Given the description of an element on the screen output the (x, y) to click on. 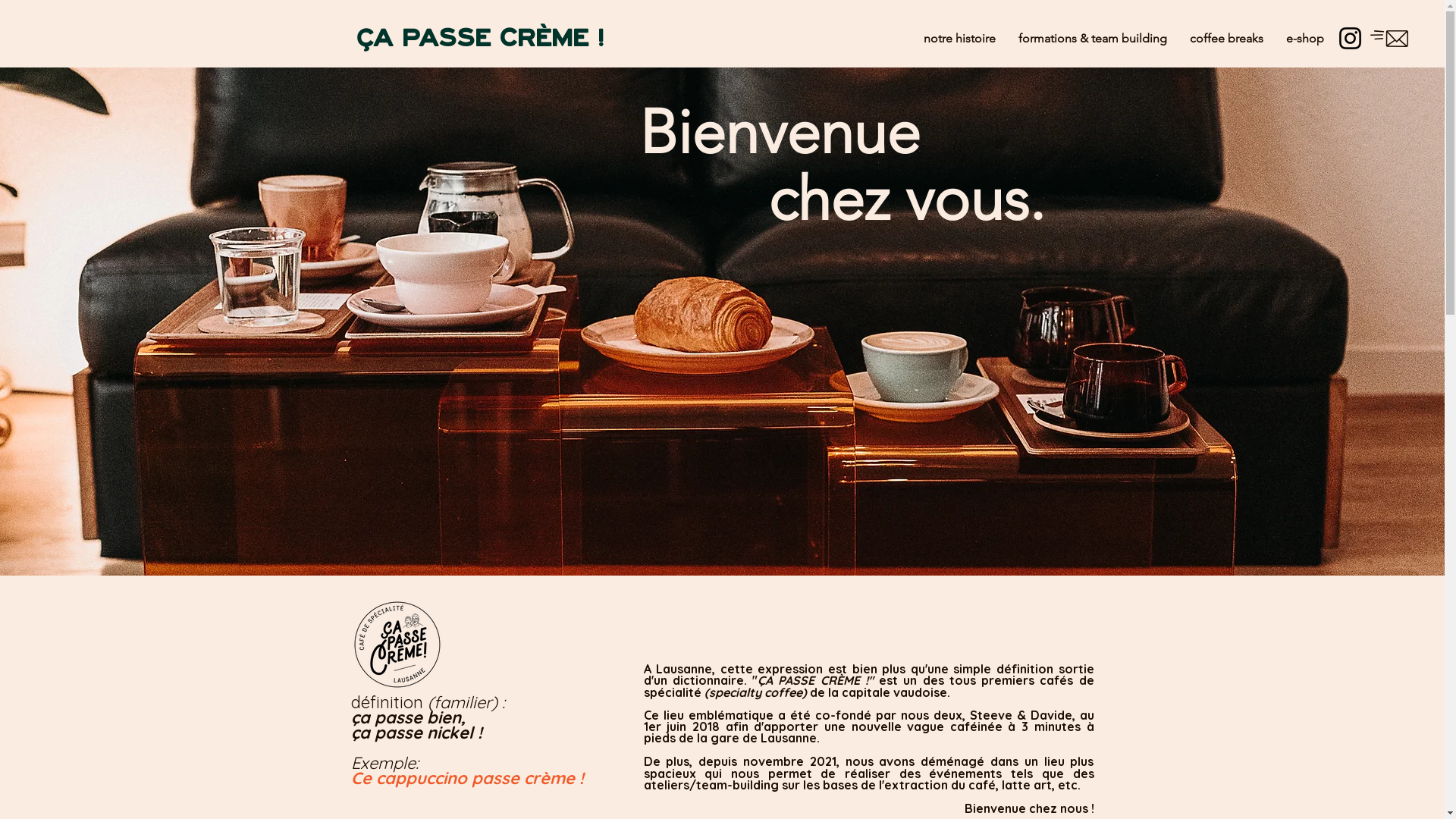
coffee breaks Element type: text (1226, 38)
formations & team building Element type: text (1092, 38)
notre histoire Element type: text (959, 38)
e-shop Element type: text (1304, 38)
